Given the description of an element on the screen output the (x, y) to click on. 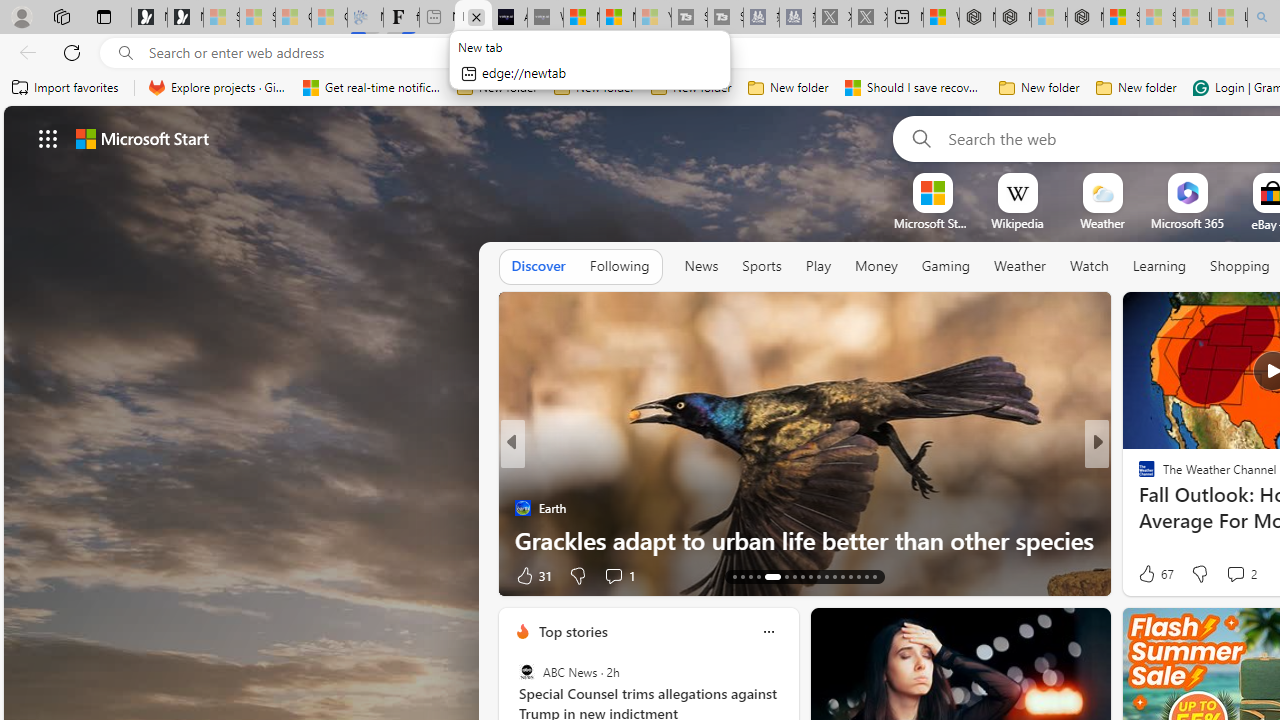
AutomationID: tab-20 (757, 576)
AutomationID: waffle (47, 138)
AutomationID: tab-22 (782, 576)
Refresh (72, 52)
